Given the description of an element on the screen output the (x, y) to click on. 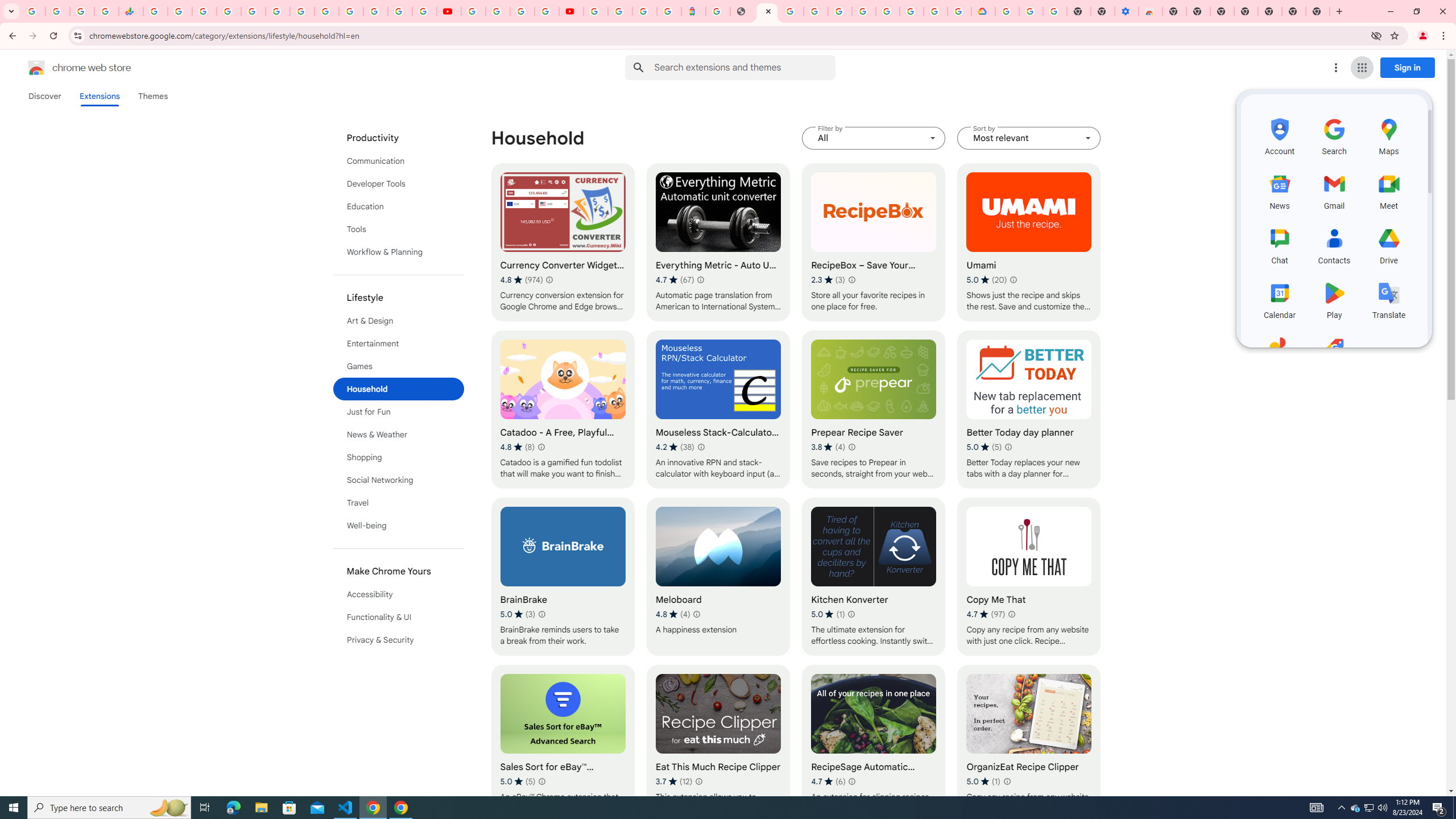
Sign in - Google Accounts (619, 11)
Kitchen Konverter (874, 576)
Average rating 4.8 out of 5 stars. 4 ratings. (672, 613)
Currency Converter Widget - Exchange Rates (562, 241)
Well-being (398, 525)
Shopping (398, 456)
Average rating 2.3 out of 5 stars. 3 ratings. (827, 279)
Functionality & UI (398, 617)
Meloboard (718, 576)
Average rating 3.7 out of 5 stars. 12 ratings. (674, 781)
Themes (152, 95)
Tools (398, 228)
